Given the description of an element on the screen output the (x, y) to click on. 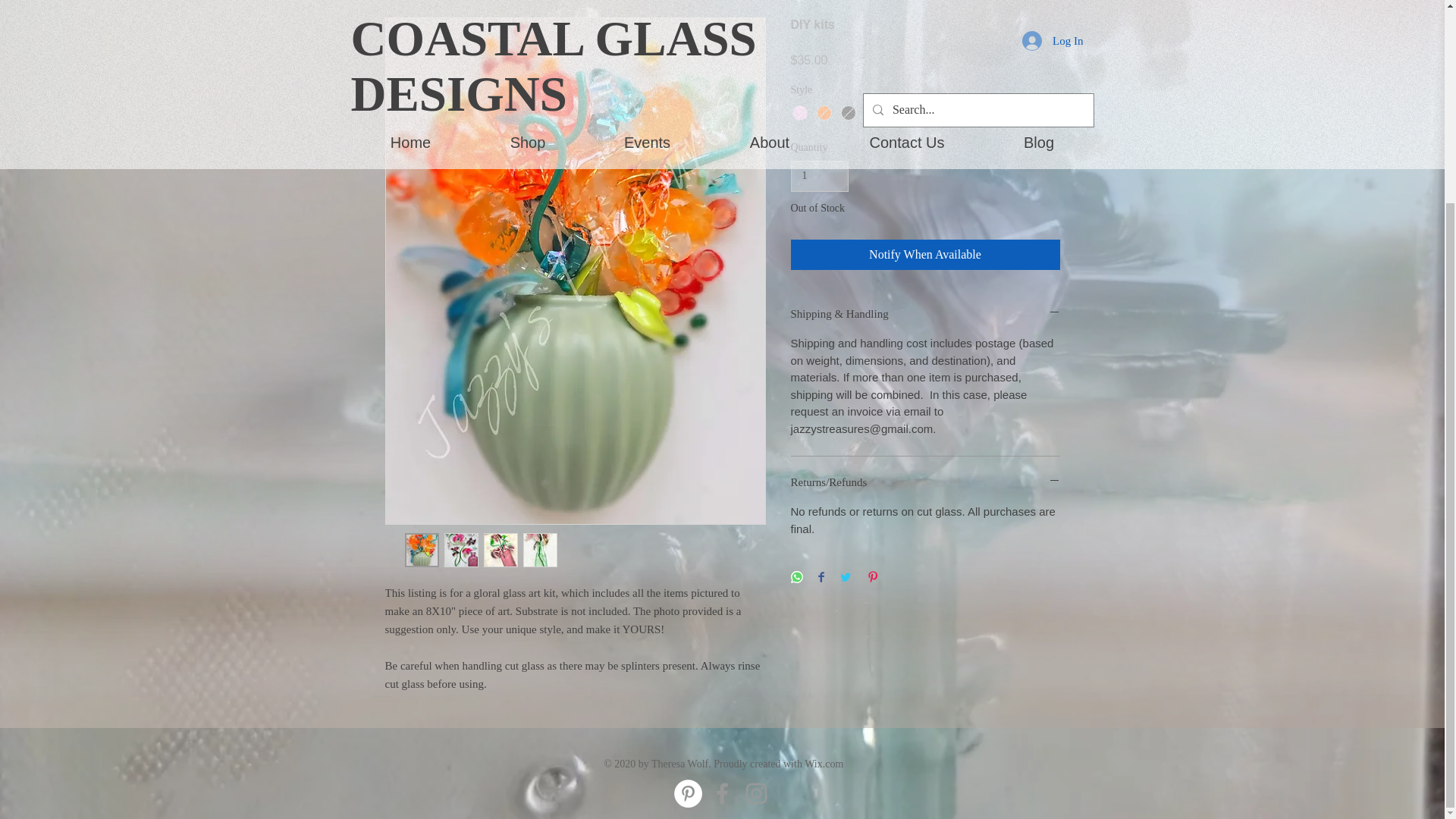
Notify When Available (924, 254)
Wix.com (824, 763)
1 (818, 175)
